Given the description of an element on the screen output the (x, y) to click on. 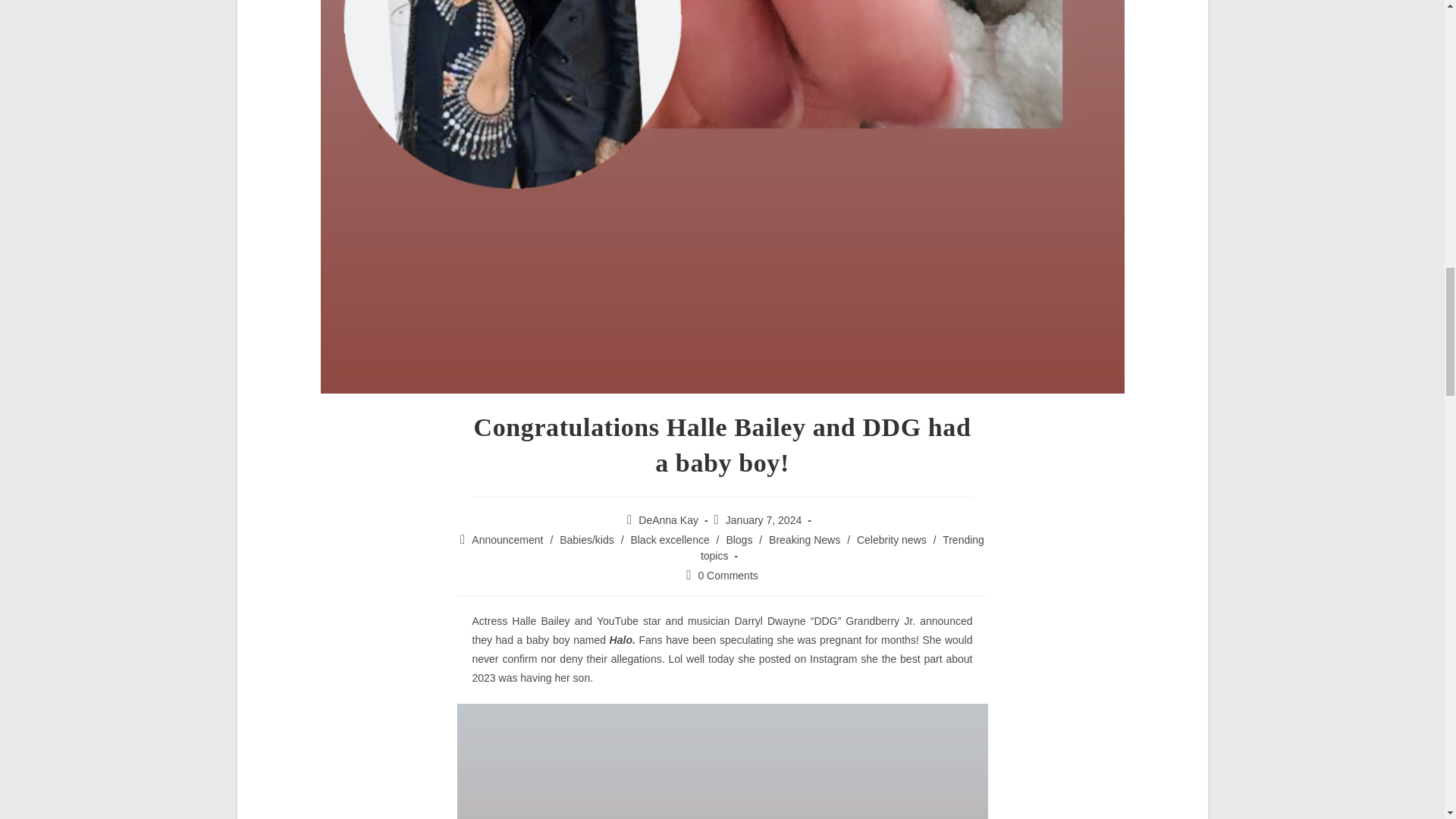
Trending topics (842, 547)
Breaking News (804, 539)
Posts by DeAnna Kay (668, 520)
0 Comments (727, 575)
Announcement (507, 539)
Blogs (738, 539)
Celebrity news (891, 539)
Black excellence (669, 539)
DeAnna Kay (668, 520)
